Given the description of an element on the screen output the (x, y) to click on. 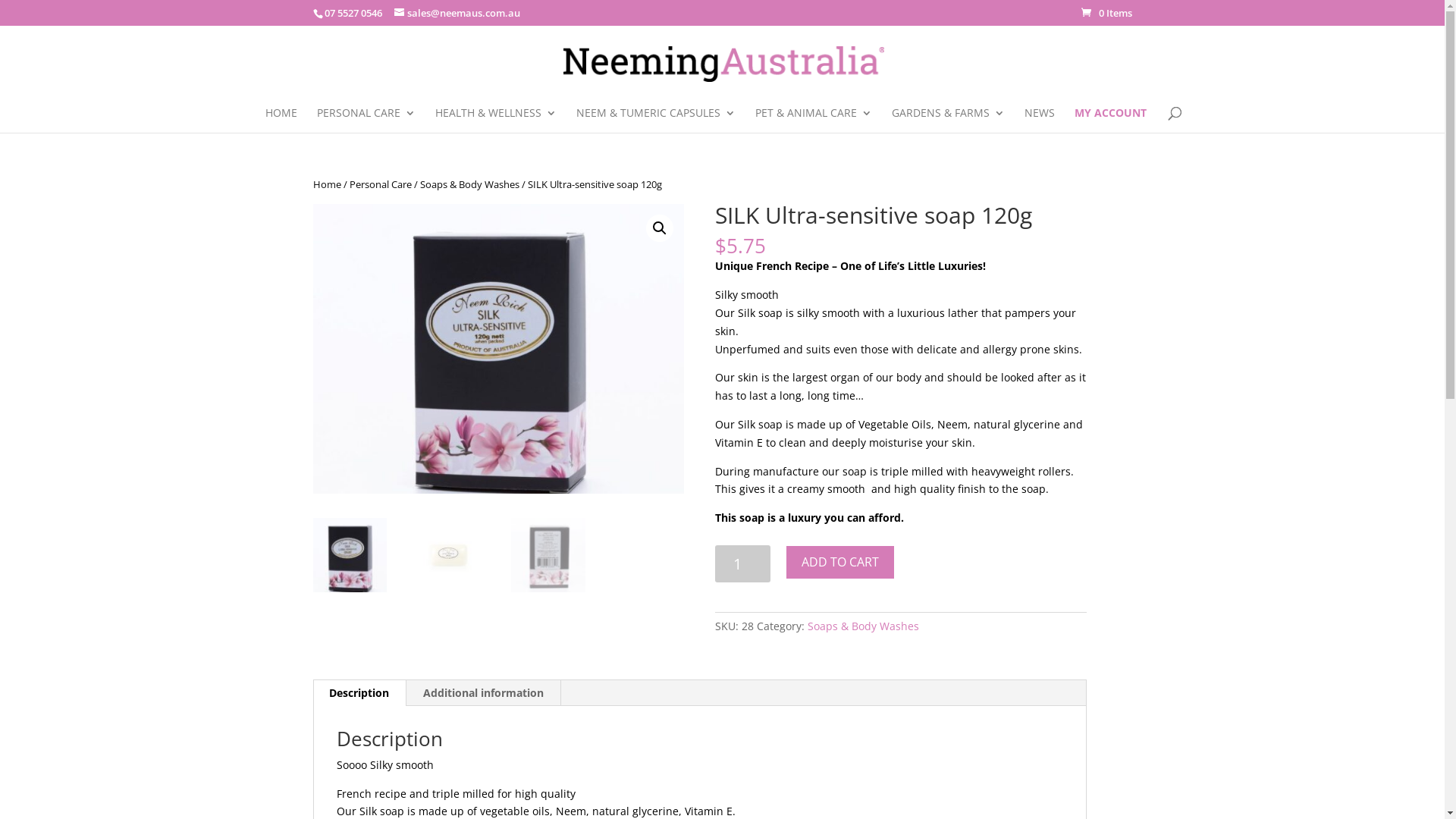
Description Element type: text (358, 693)
Home Element type: text (326, 184)
NEEM & TUMERIC CAPSULES Element type: text (655, 119)
sales@neemaus.com.au Element type: text (457, 12)
PERSONAL CARE Element type: text (365, 119)
HEALTH & WELLNESS Element type: text (495, 119)
HOME Element type: text (281, 119)
Silk BOX 820W x 640H Element type: hover (498, 348)
NEWS Element type: text (1038, 119)
MY ACCOUNT Element type: text (1109, 119)
Personal Care Element type: text (379, 184)
0 Items Element type: text (1106, 12)
PET & ANIMAL CARE Element type: text (813, 119)
Additional information Element type: text (483, 693)
GARDENS & FARMS Element type: text (947, 119)
Soaps & Body Washes Element type: text (863, 625)
Soaps & Body Washes Element type: text (469, 184)
ADD TO CART Element type: text (839, 562)
